Given the description of an element on the screen output the (x, y) to click on. 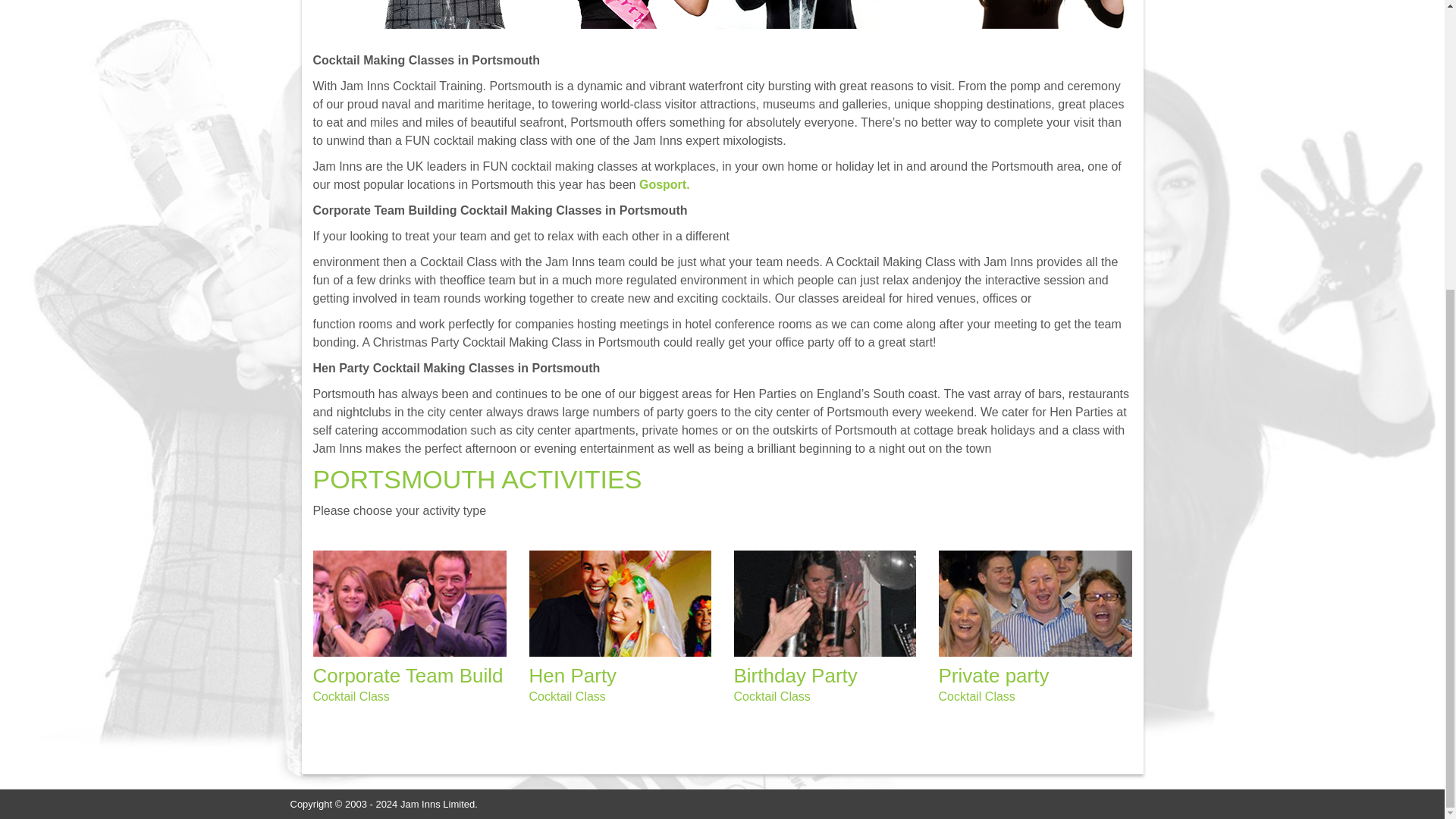
Cocktail Class (771, 696)
Gosport (664, 184)
Cocktail Class (350, 696)
Cocktail Class (567, 696)
Gosport. (664, 184)
Cocktail Class (976, 696)
